Given the description of an element on the screen output the (x, y) to click on. 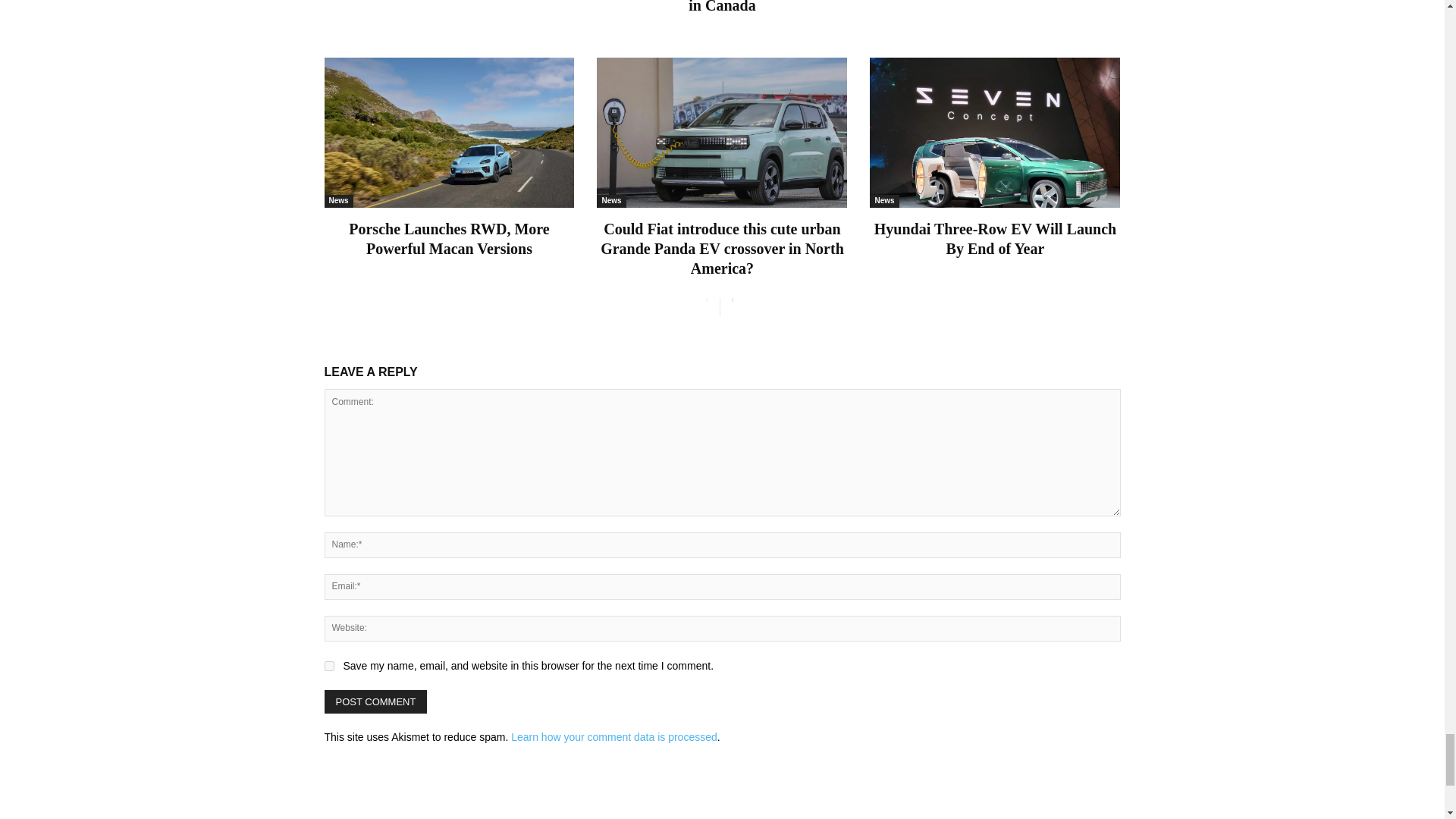
yes (329, 665)
Post Comment (376, 701)
